Given the description of an element on the screen output the (x, y) to click on. 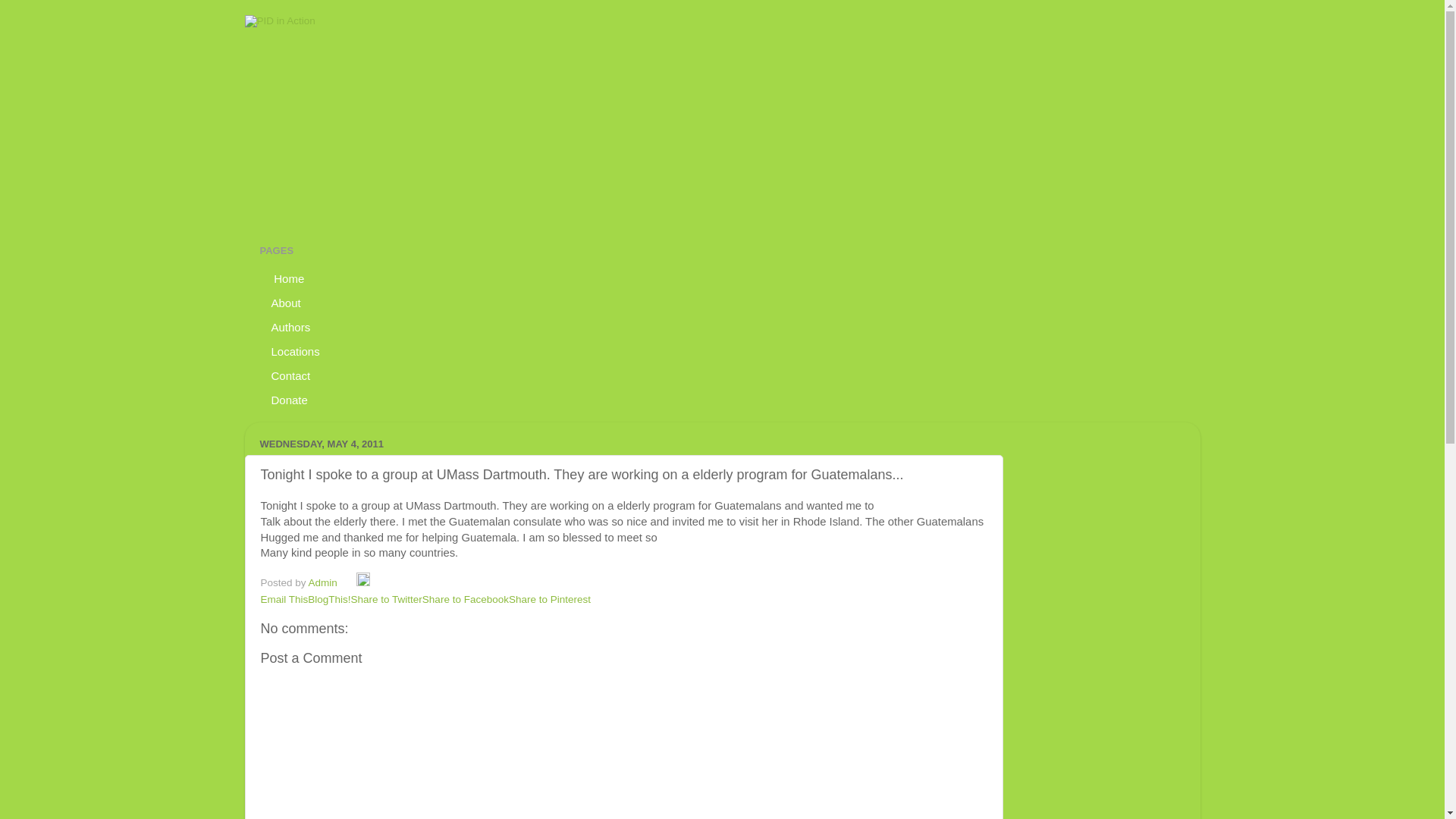
Share to Twitter (386, 599)
Authors (290, 326)
Admin (324, 582)
Donate (288, 399)
BlogThis! (328, 599)
author profile (324, 582)
Share to Pinterest (549, 599)
Edit Post (362, 582)
Locations (295, 351)
Contact (290, 375)
Share to Pinterest (549, 599)
Email This (284, 599)
Share to Twitter (386, 599)
Home (287, 278)
Share to Facebook (465, 599)
